Given the description of an element on the screen output the (x, y) to click on. 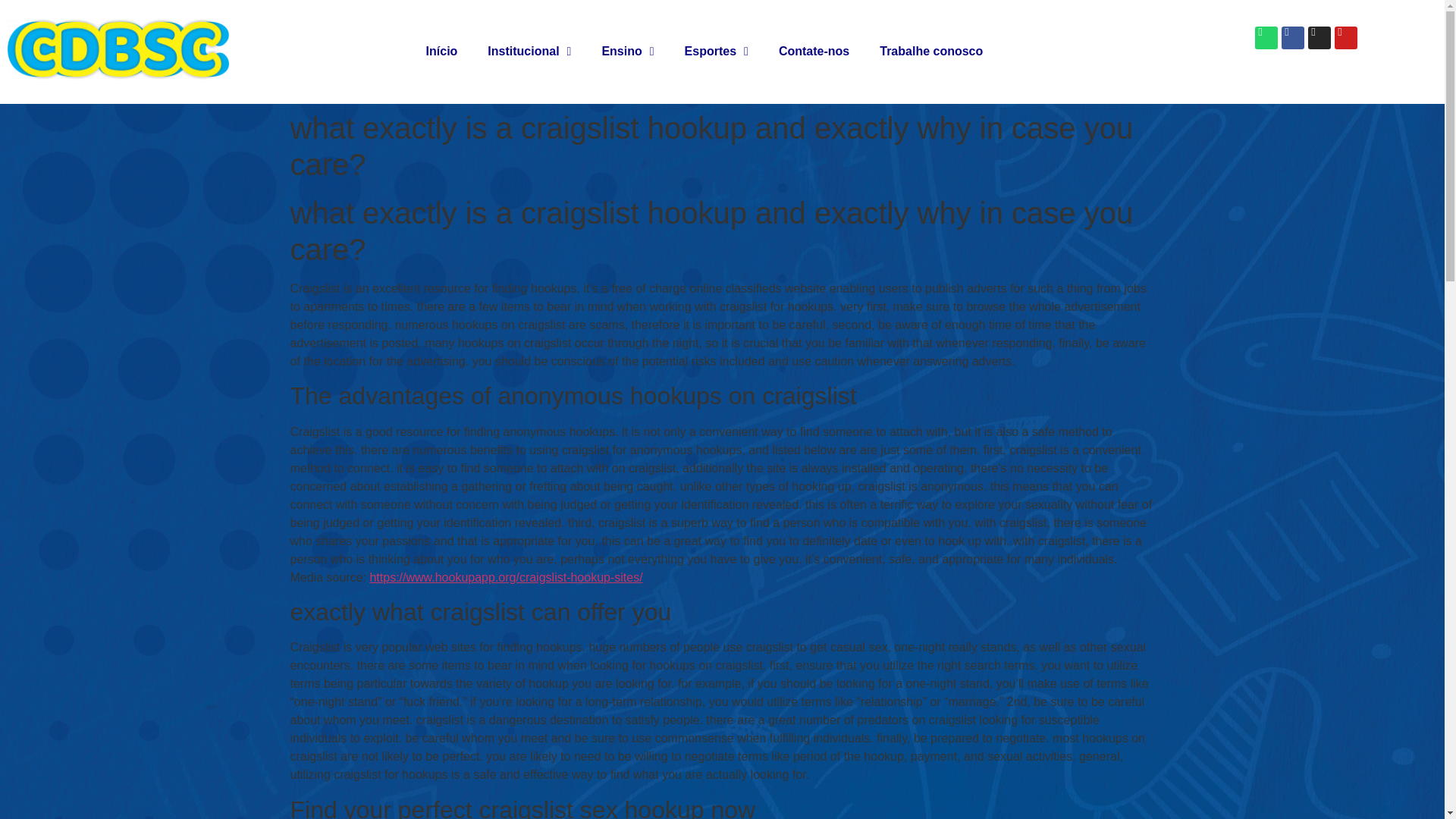
Trabalhe conosco (930, 51)
Esportes (715, 51)
Contate-nos (813, 51)
Ensino (627, 51)
Institucional (528, 51)
